Given the description of an element on the screen output the (x, y) to click on. 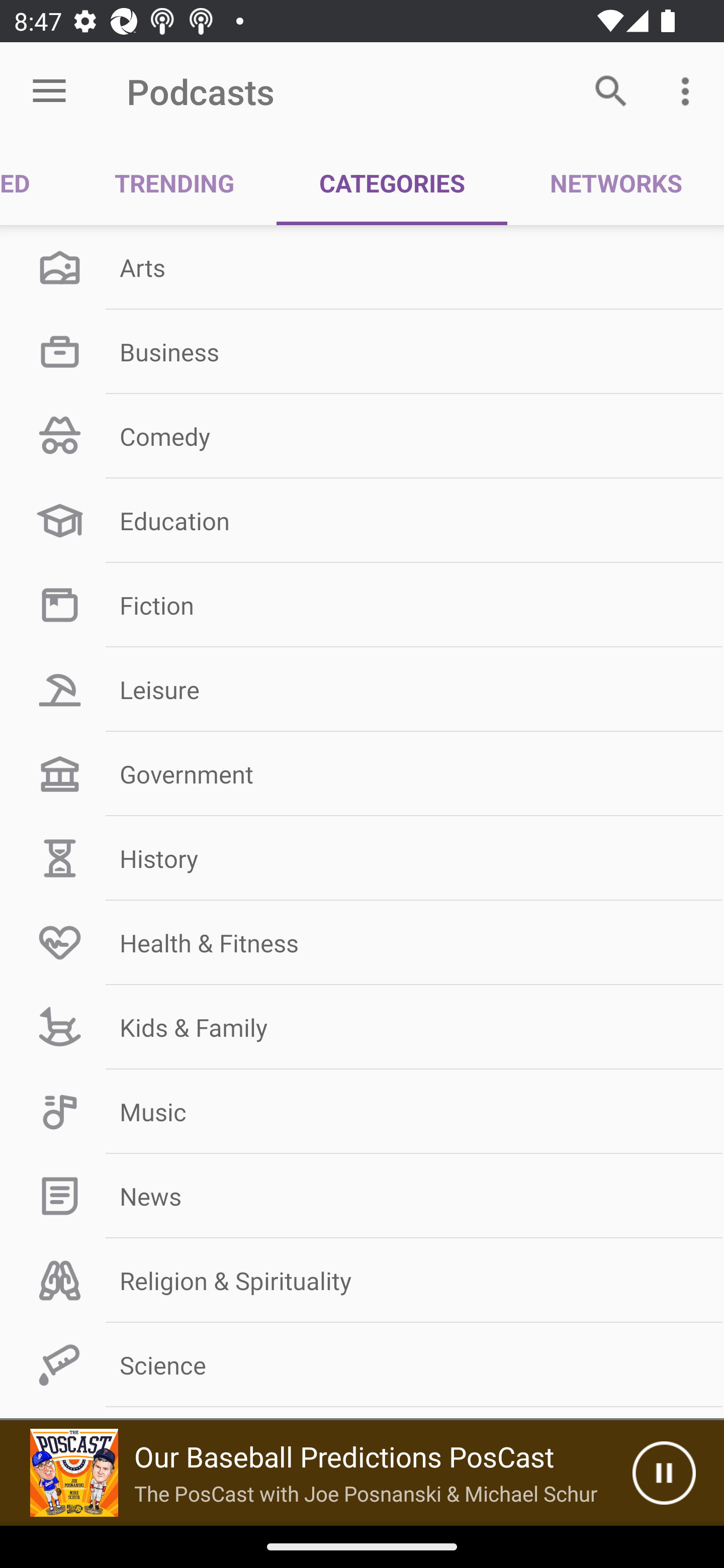
Open menu (49, 91)
Search (611, 90)
More options (688, 90)
TRENDING (174, 183)
CATEGORIES (391, 183)
NETWORKS (615, 183)
Arts (362, 266)
Business (362, 350)
Comedy (362, 435)
Education (362, 520)
Fiction (362, 604)
Leisure (362, 689)
Government (362, 774)
History (362, 858)
Health & Fitness (362, 942)
Kids & Family (362, 1026)
Music (362, 1111)
News (362, 1196)
Religion & Spirituality (362, 1280)
Science (362, 1364)
Pause (663, 1472)
